Given the description of an element on the screen output the (x, y) to click on. 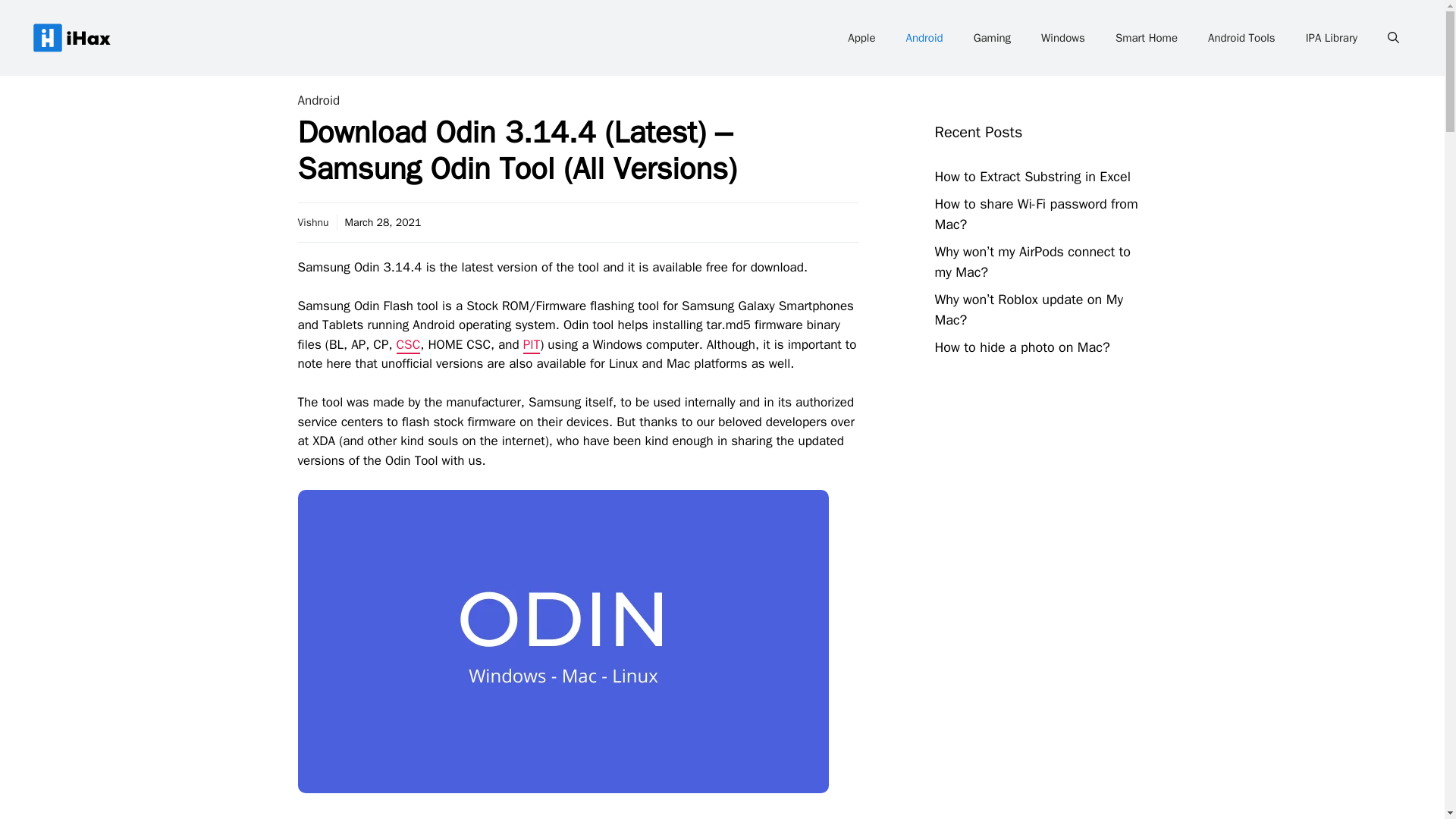
PIT (531, 344)
Vishnu (313, 221)
Android Tools (1241, 37)
Gaming (992, 37)
Android (923, 37)
Android (318, 100)
Apple (860, 37)
Windows (1063, 37)
Smart Home (1146, 37)
IPA Library (1331, 37)
CSC (408, 344)
